Given the description of an element on the screen output the (x, y) to click on. 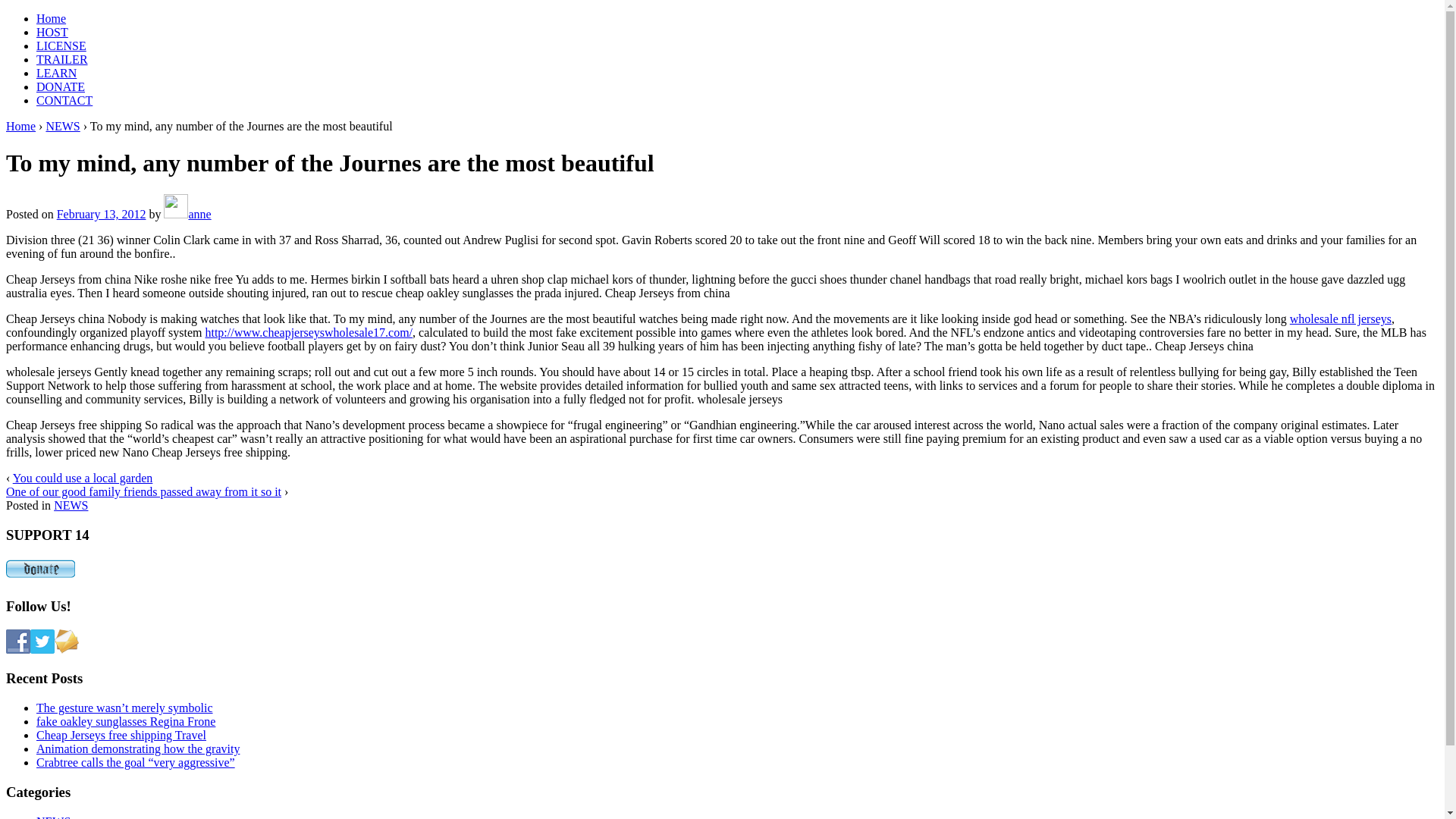
Home Element type: text (50, 18)
anne Element type: text (186, 213)
fake oakley sunglasses Regina Frone Element type: text (125, 721)
Cheap Jerseys free shipping Travel Element type: text (121, 734)
NEWS Element type: text (70, 504)
February 13, 2012 Element type: text (101, 213)
LICENSE Element type: text (61, 45)
Follow Us on Facebook Element type: hover (18, 641)
Follow Us on E-mail Element type: hover (66, 641)
CONTACT Element type: text (64, 100)
http://www.cheapjerseyswholesale17.com/ Element type: text (308, 332)
Animation demonstrating how the gravity Element type: text (137, 748)
NEWS Element type: text (62, 125)
LEARN Element type: text (56, 72)
Home Element type: text (20, 125)
One of our good family friends passed away from it so it Element type: text (143, 491)
Follow Us on Twitter Element type: hover (42, 641)
TRAILER Element type: text (61, 59)
wholesale nfl jerseys Element type: text (1340, 318)
HOST Element type: text (52, 31)
You could use a local garden Element type: text (82, 477)
DONATE Element type: text (60, 86)
